Given the description of an element on the screen output the (x, y) to click on. 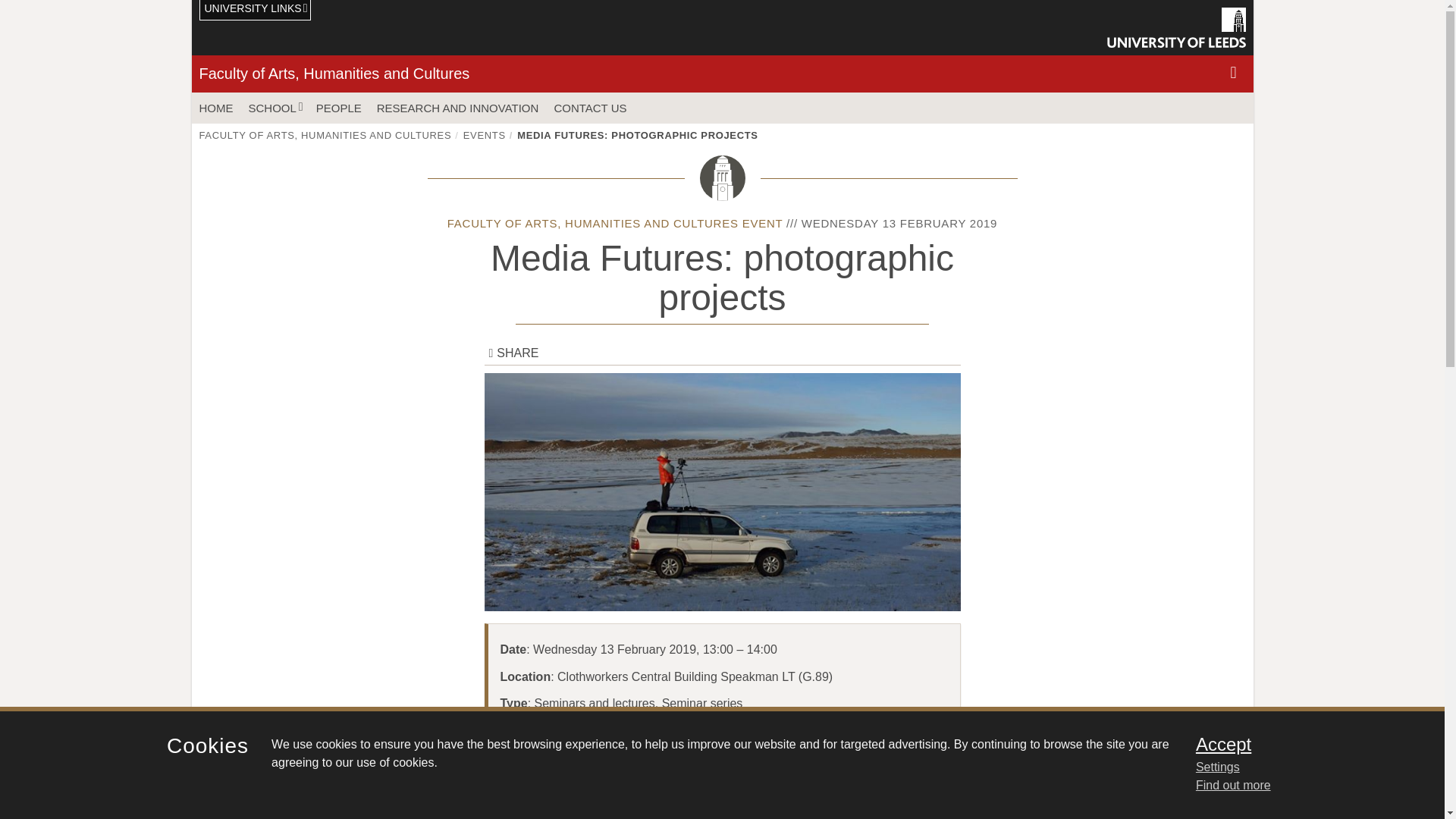
Find out more (1233, 784)
UNIVERSITY LINKS (254, 10)
University of Leeds homepage (1176, 27)
Settings (1300, 767)
Accept (1300, 744)
